Given the description of an element on the screen output the (x, y) to click on. 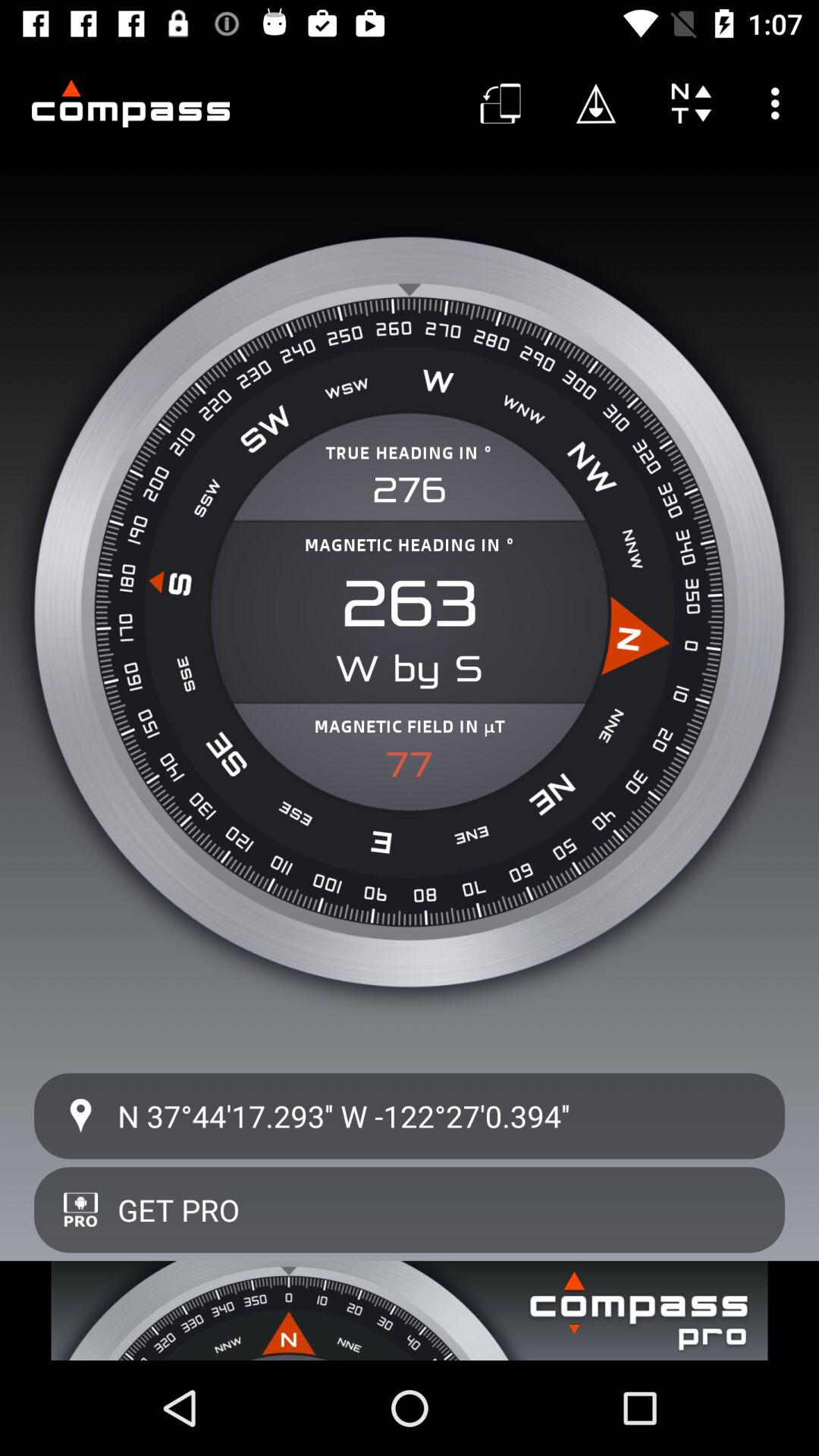
choose the item below magnetic field in item (409, 764)
